Given the description of an element on the screen output the (x, y) to click on. 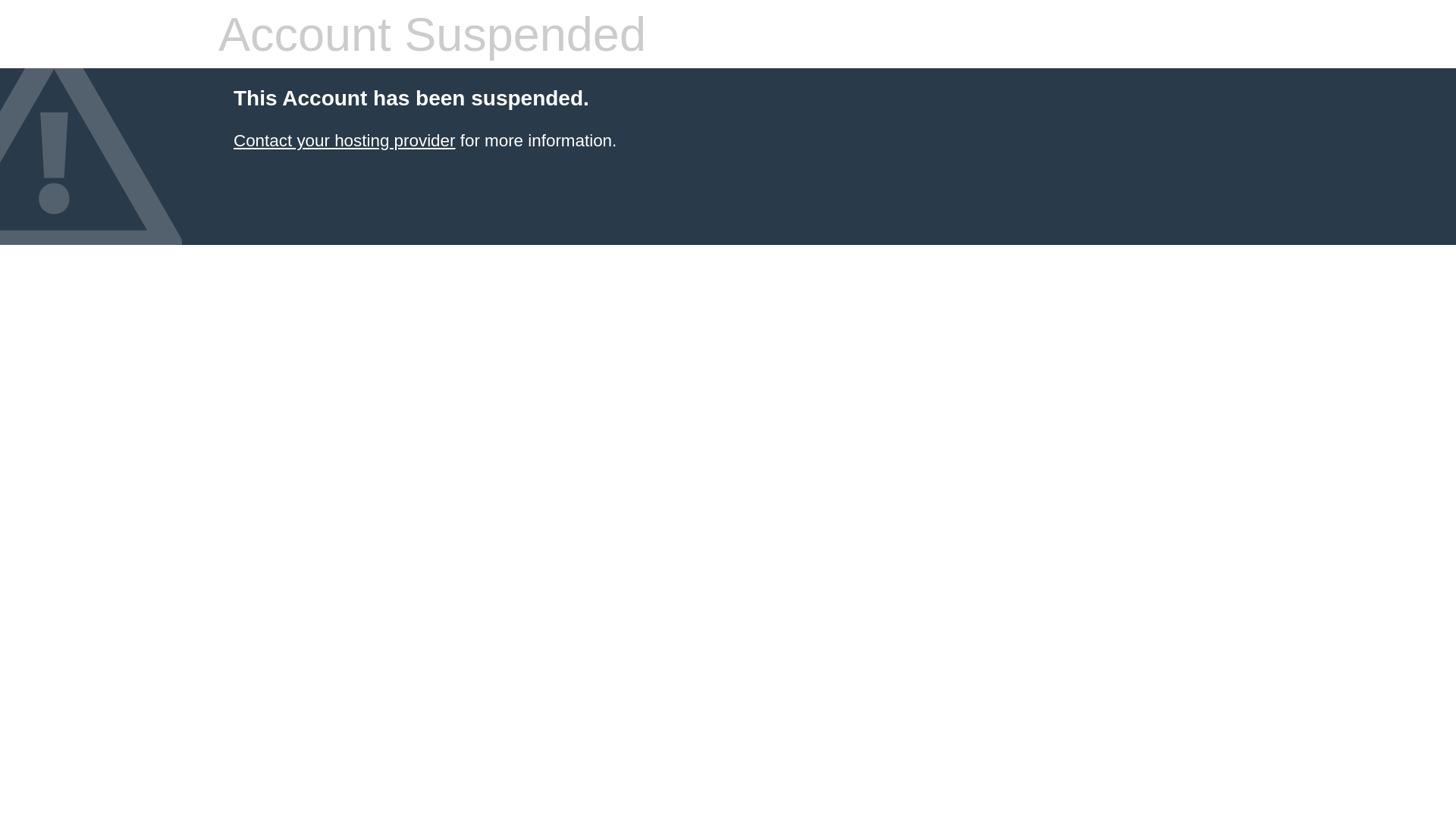
Contact your hosting provider Element type: text (344, 140)
